Given the description of an element on the screen output the (x, y) to click on. 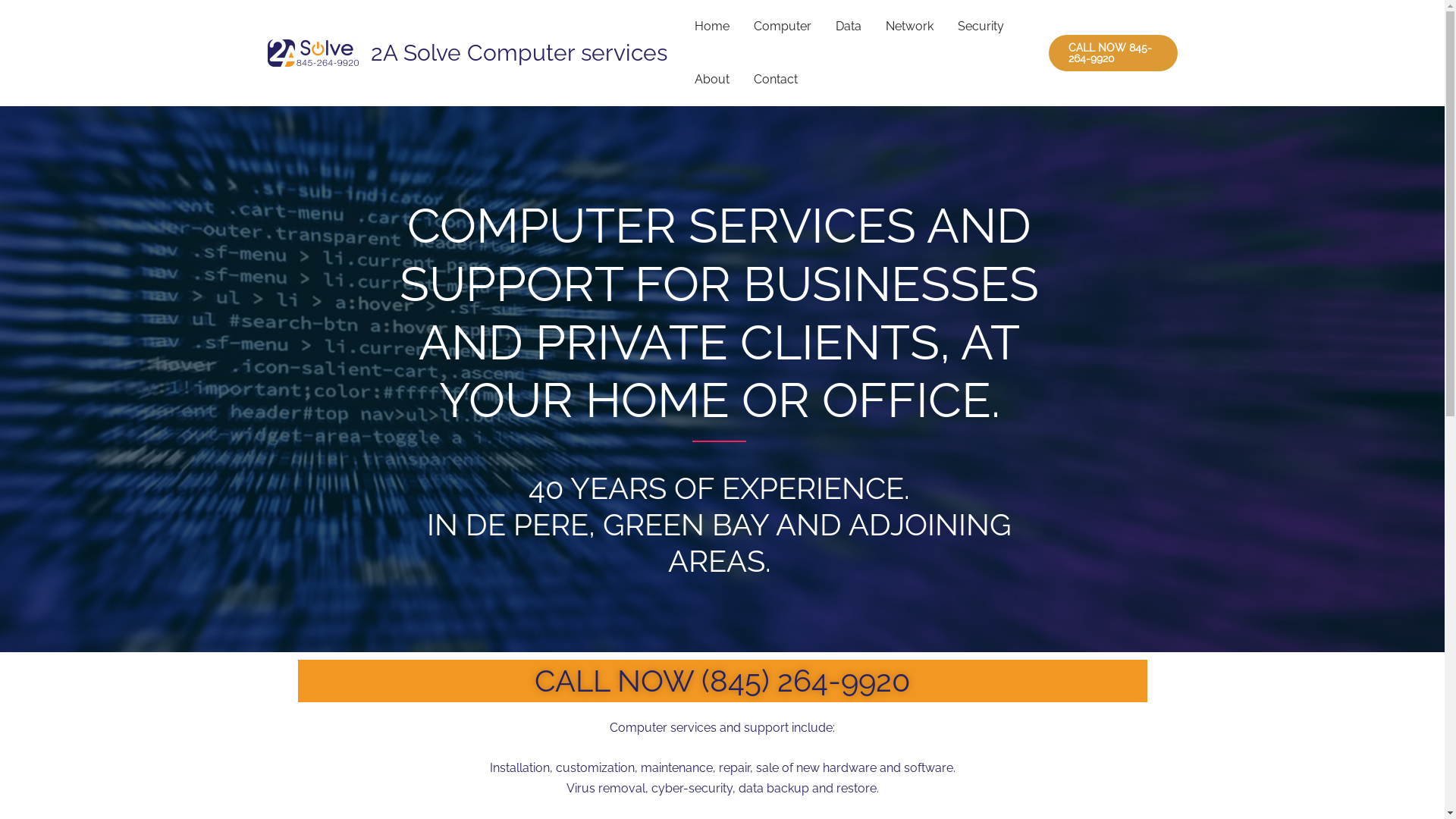
Data Element type: text (848, 26)
CALL NOW 845-264-9920 Element type: text (1112, 52)
Security Element type: text (979, 26)
2A Solve Computer services Element type: text (518, 52)
About Element type: text (711, 79)
Computer Element type: text (782, 26)
Home Element type: text (711, 26)
Contact Element type: text (775, 79)
Network Element type: text (909, 26)
